Given the description of an element on the screen output the (x, y) to click on. 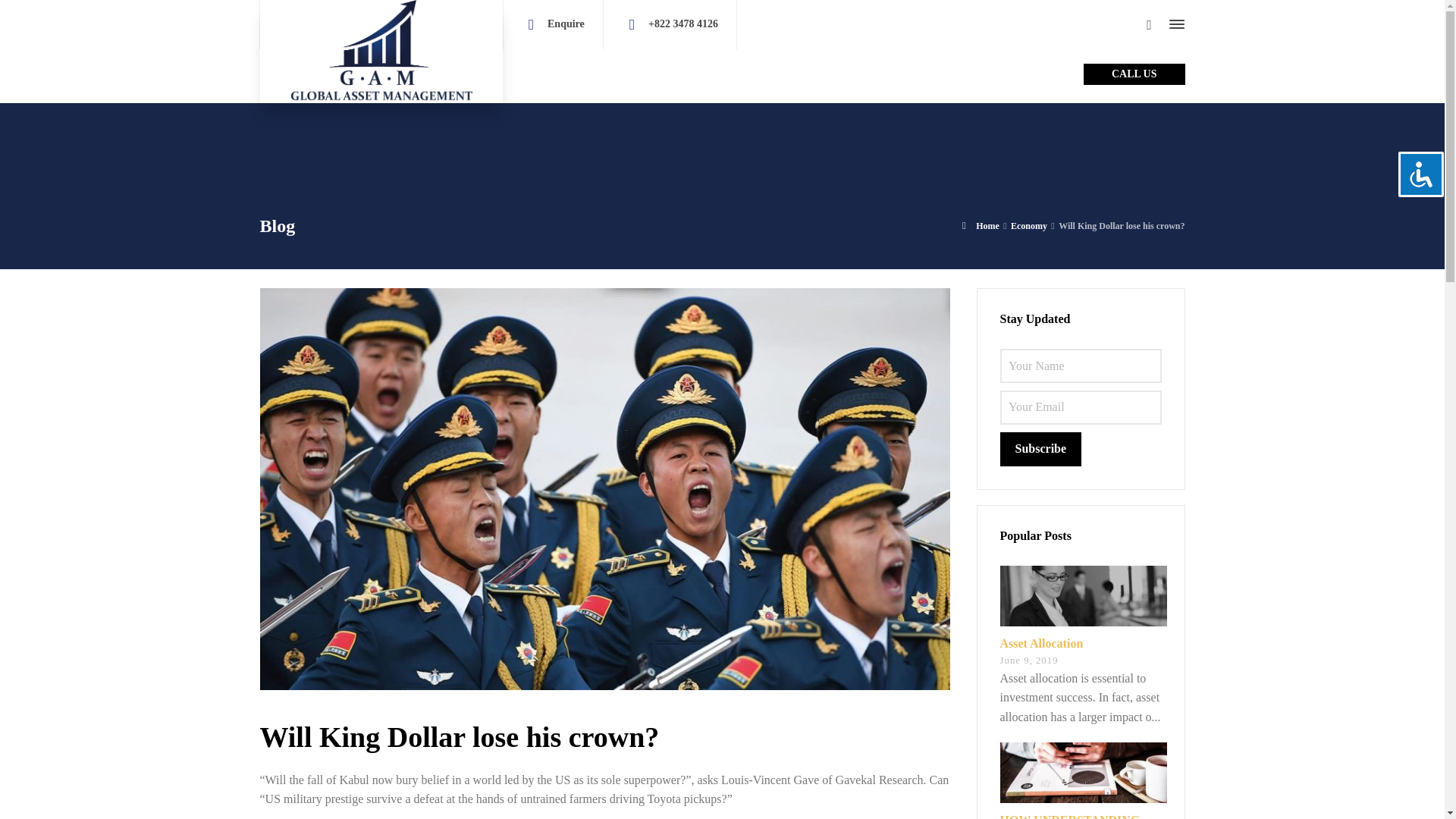
Send us free enquiry (566, 23)
click to call (682, 23)
Home (534, 73)
Our Services (667, 73)
About Us (592, 73)
Call Us (1134, 74)
Careers (816, 73)
Contact Us (879, 73)
CALL US (1134, 74)
Global Asset Management Seoul Korea (380, 51)
Enquire (566, 23)
Subscribe (1039, 449)
